Given the description of an element on the screen output the (x, y) to click on. 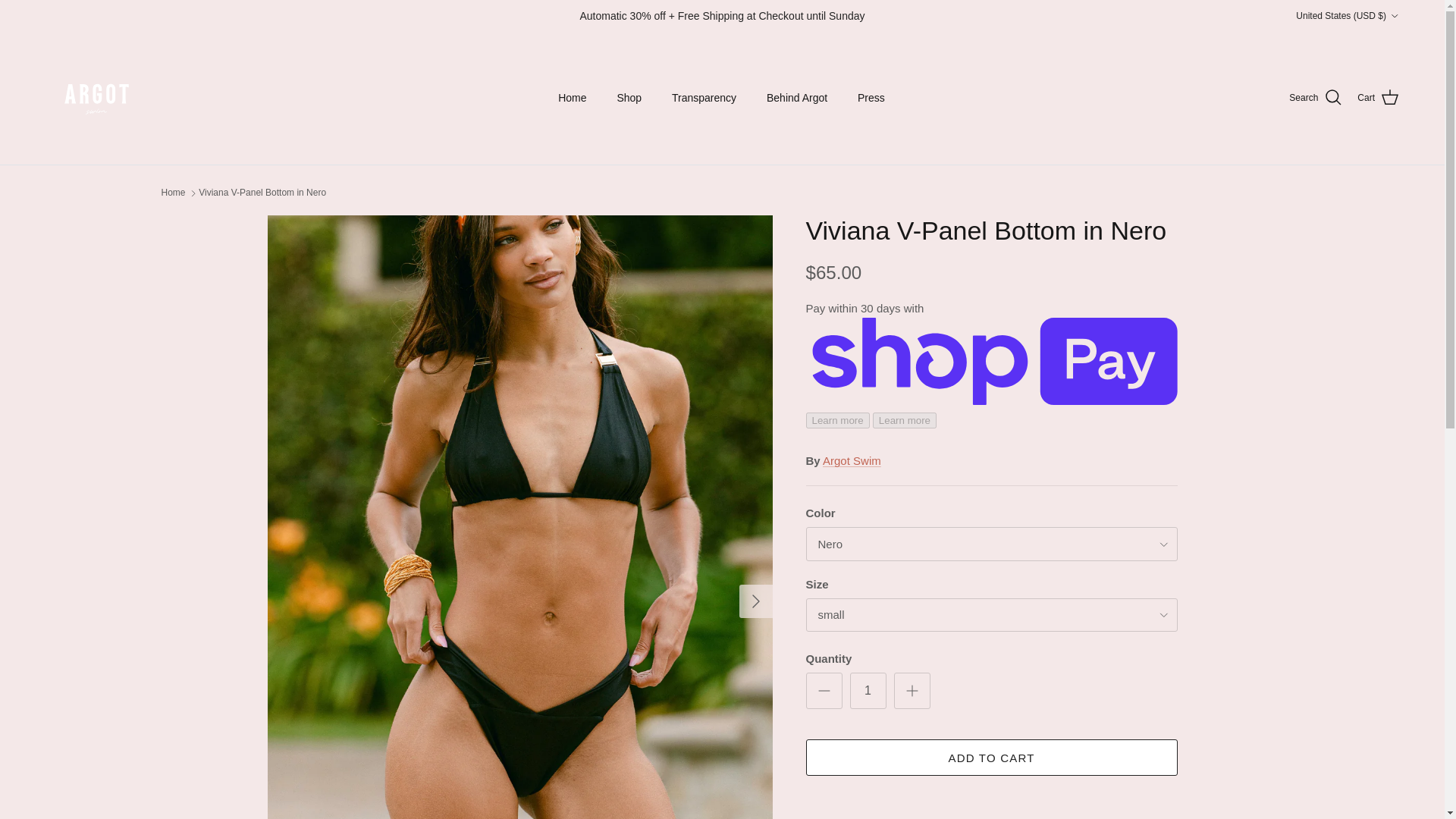
Behind Argot (796, 97)
1 (866, 690)
Press (871, 97)
Home (571, 97)
Cart (1377, 97)
Shop (628, 97)
Transparency (703, 97)
Search (1315, 97)
Argot Swim (96, 97)
